Given the description of an element on the screen output the (x, y) to click on. 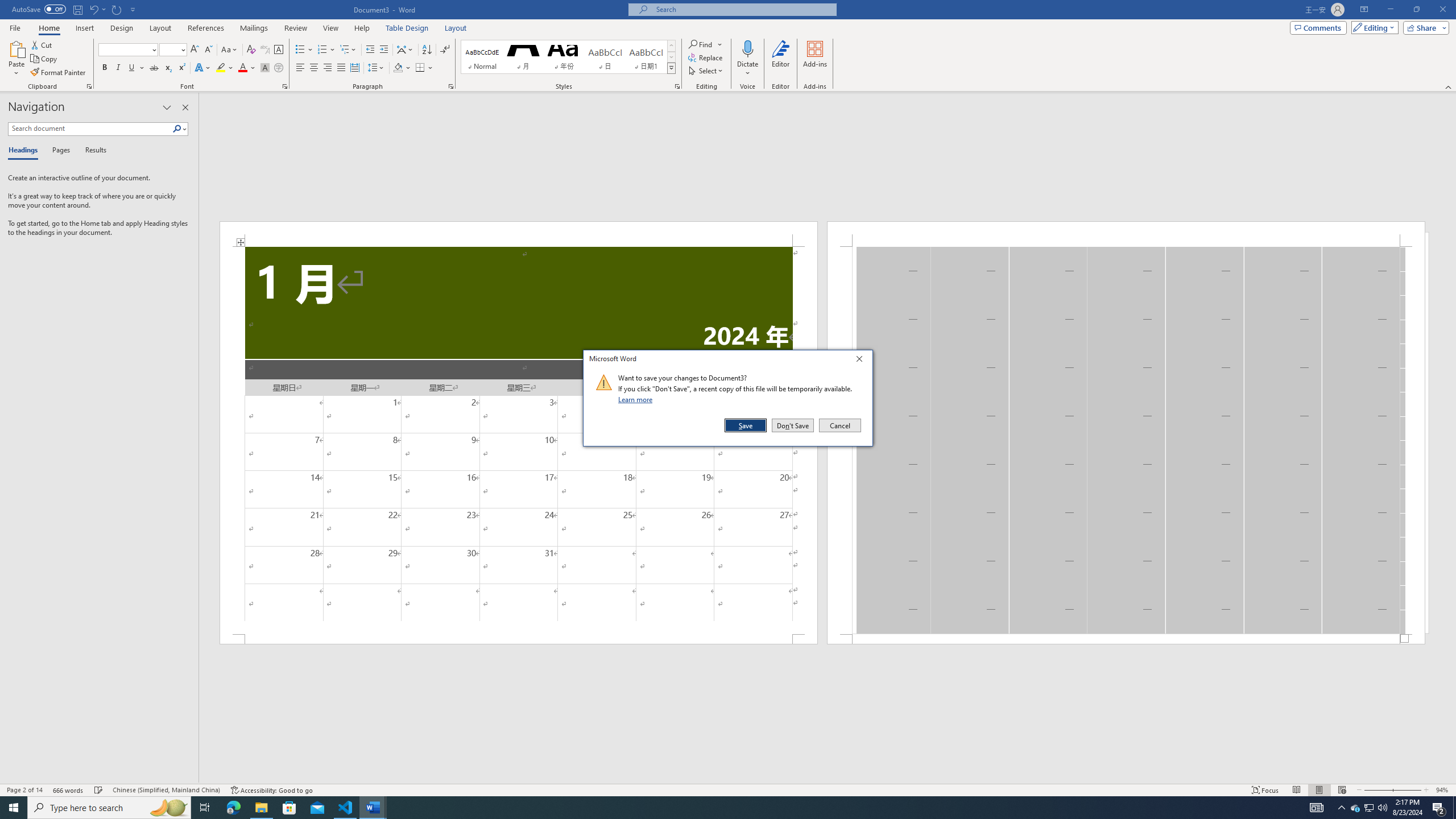
Footer -Section 1- (1126, 638)
Microsoft Store (289, 807)
Decrease Indent (370, 49)
Running applications (717, 807)
Show desktop (1454, 807)
Character Shading (264, 67)
Page Number Page 2 of 14 (24, 790)
